Given the description of an element on the screen output the (x, y) to click on. 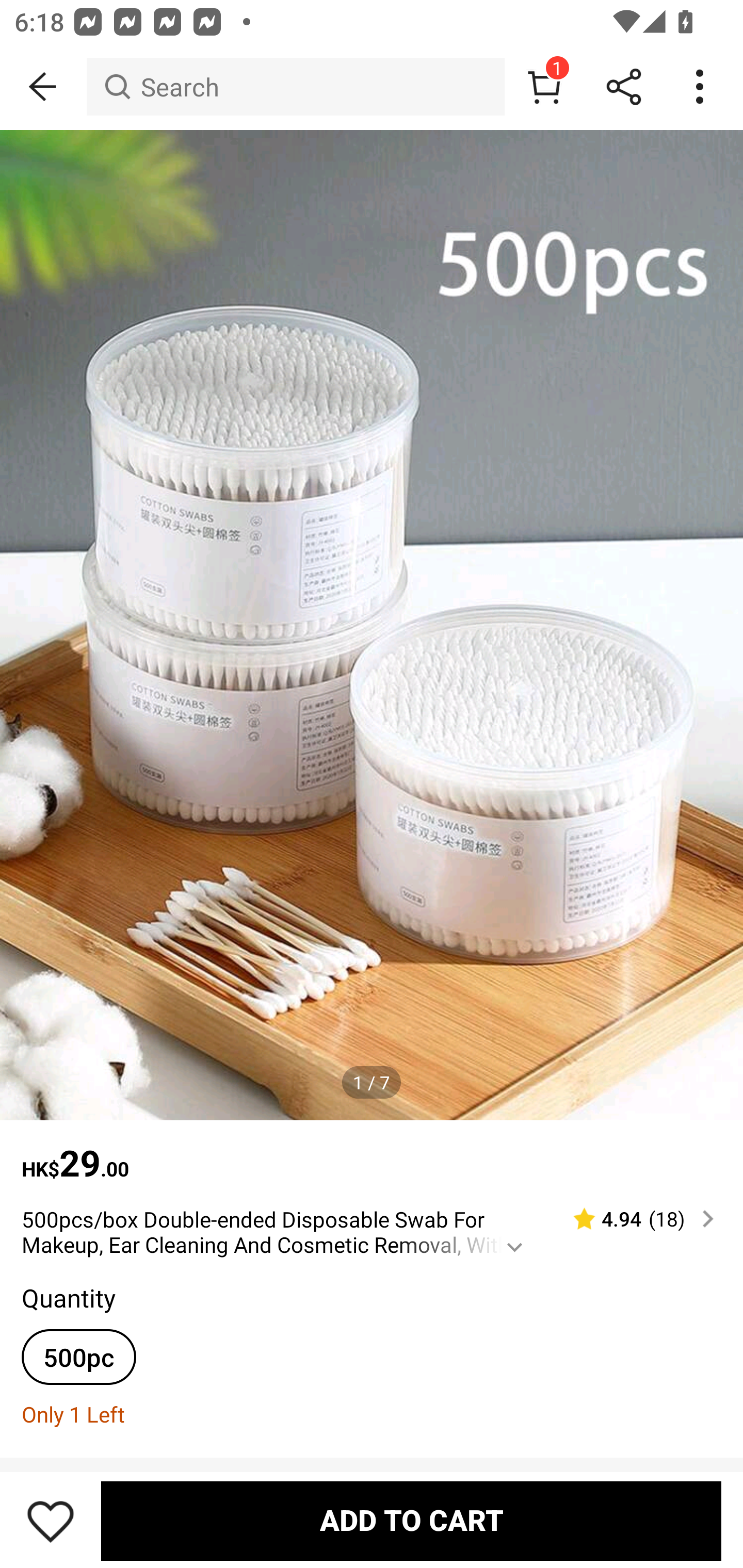
BACK (43, 86)
1 (543, 87)
Search (295, 87)
1 / 7 (371, 1082)
HK$29.00 (371, 1152)
4.94 (18) (635, 1219)
Quantity (68, 1297)
500pc 500pcselected option (78, 1356)
Only 1 Left (371, 1413)
ADD TO CART (411, 1520)
Save (50, 1520)
